Given the description of an element on the screen output the (x, y) to click on. 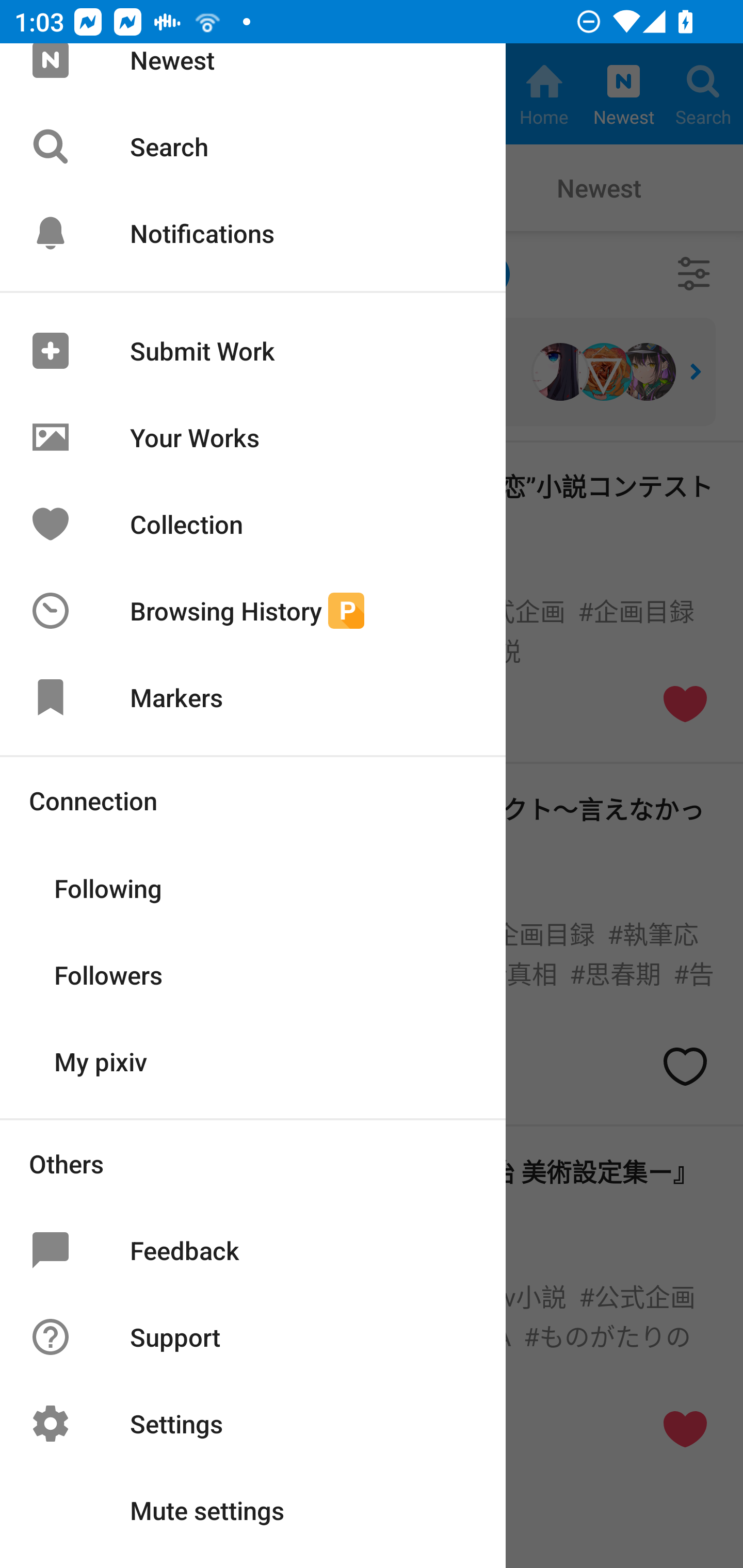
Newest (252, 73)
Search (252, 146)
Notifications (252, 232)
Submit Work (252, 350)
Your Works (252, 437)
Collection (252, 524)
Browsing History [P] (252, 610)
Markers (252, 696)
　Following (252, 886)
　Followers (252, 973)
　My pixiv (252, 1060)
Feedback (252, 1250)
Support (252, 1336)
Settings (252, 1423)
Mute settings (252, 1510)
